Given the description of an element on the screen output the (x, y) to click on. 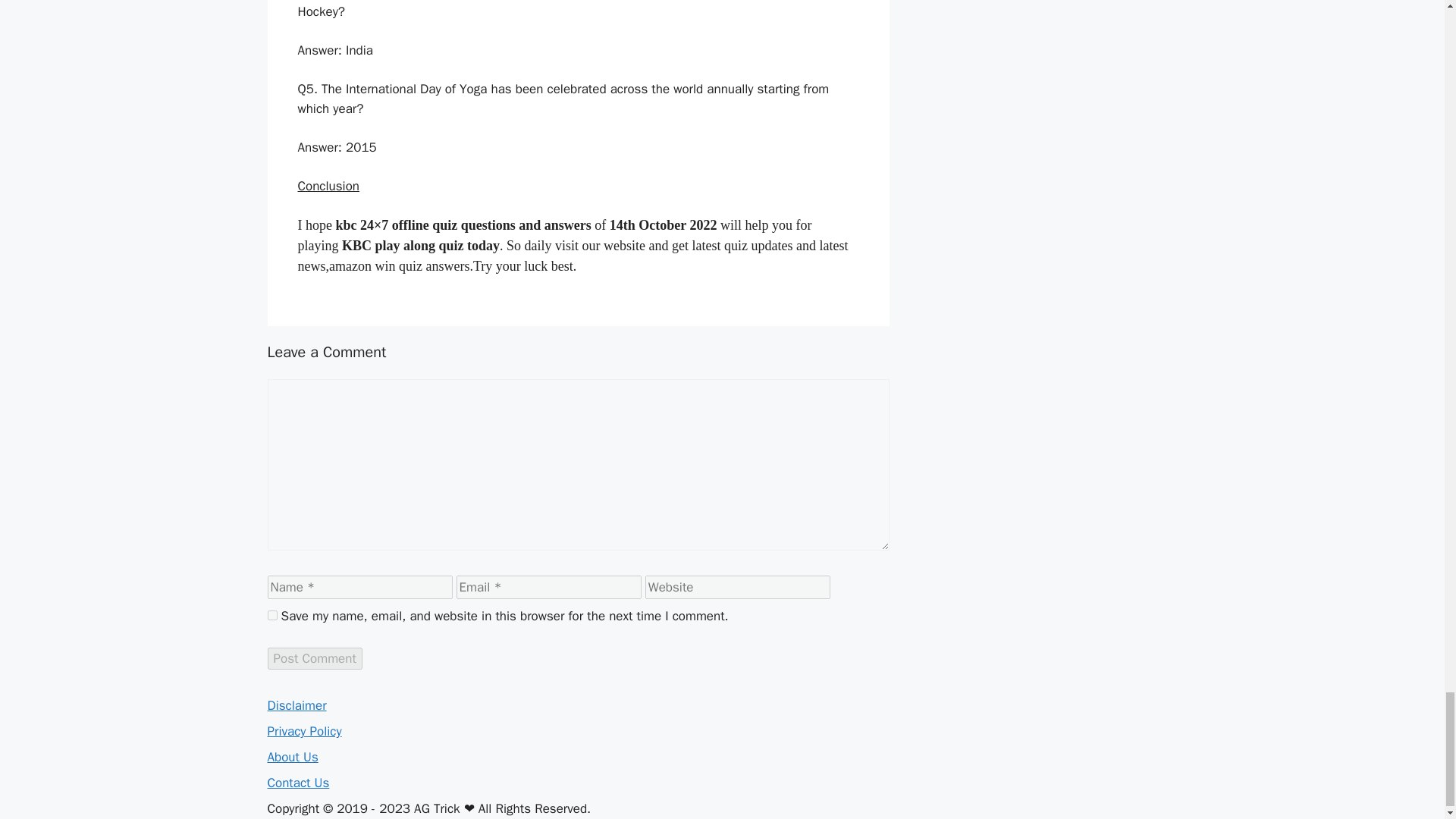
yes (271, 614)
Post Comment (313, 658)
